Given the description of an element on the screen output the (x, y) to click on. 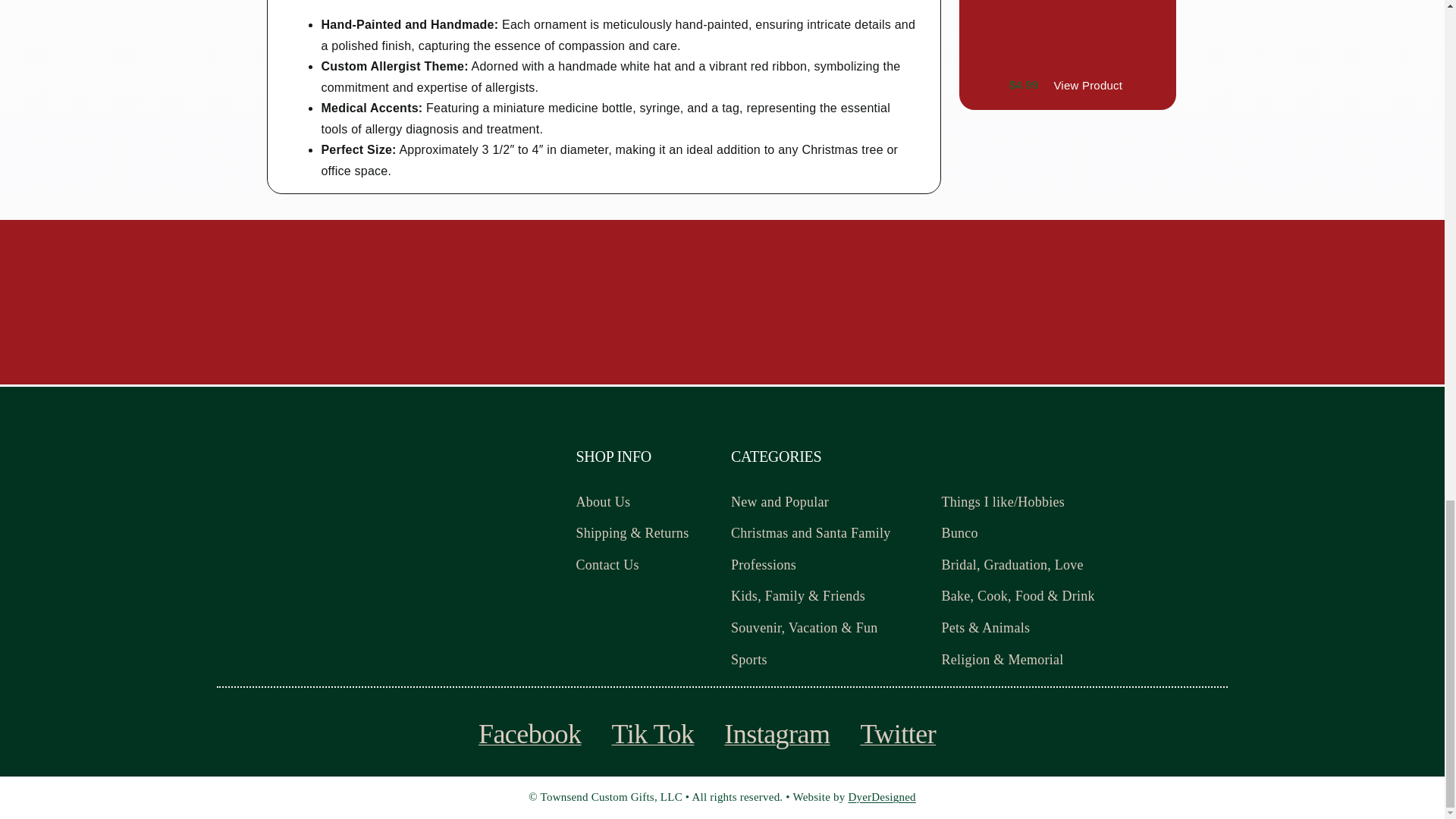
Contact Us (647, 565)
About Us (647, 502)
View Product (1087, 85)
